Given the description of an element on the screen output the (x, y) to click on. 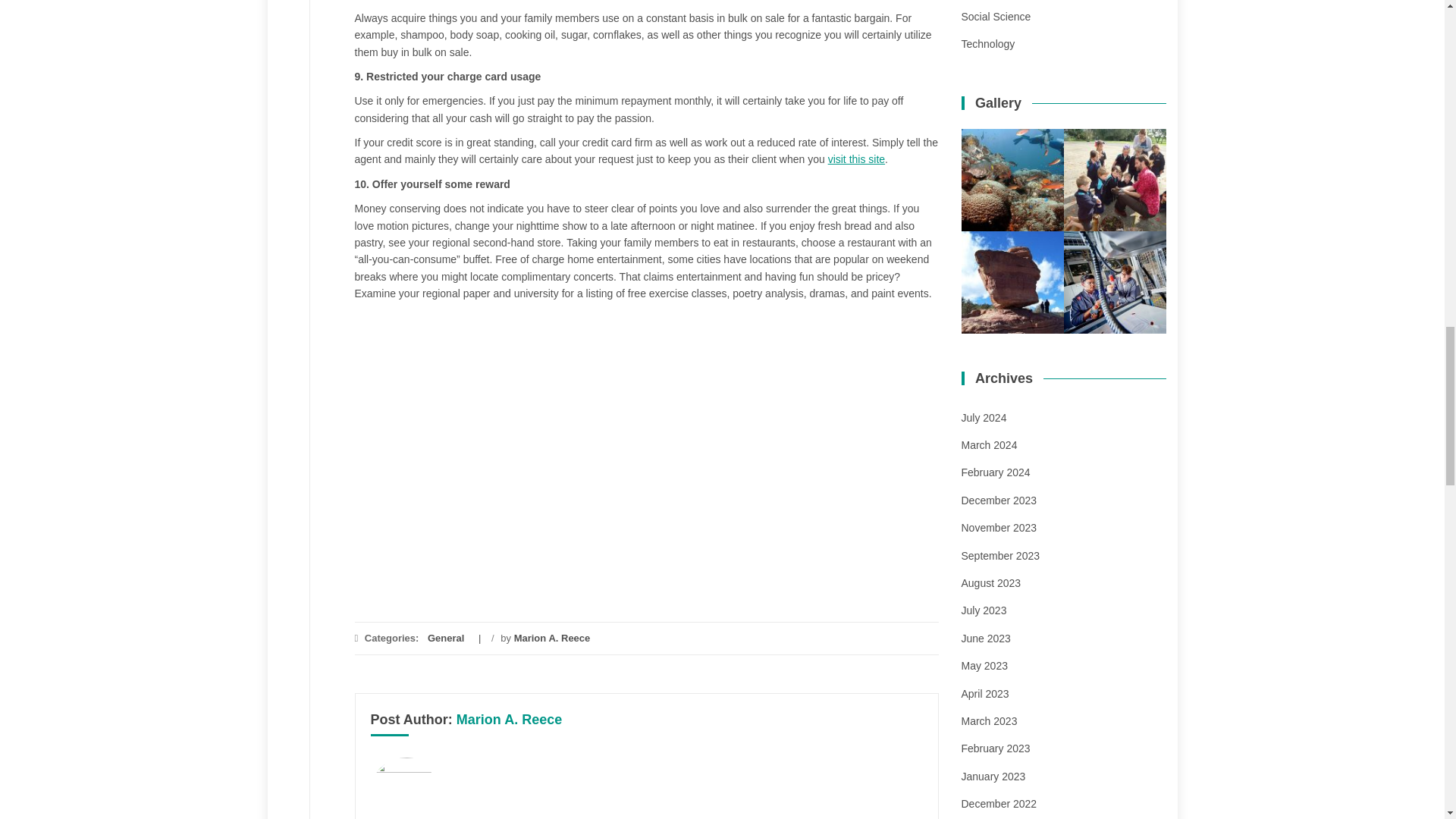
visit this site (856, 159)
General (446, 637)
Marion A. Reece (552, 637)
Marion A. Reece (509, 719)
